Given the description of an element on the screen output the (x, y) to click on. 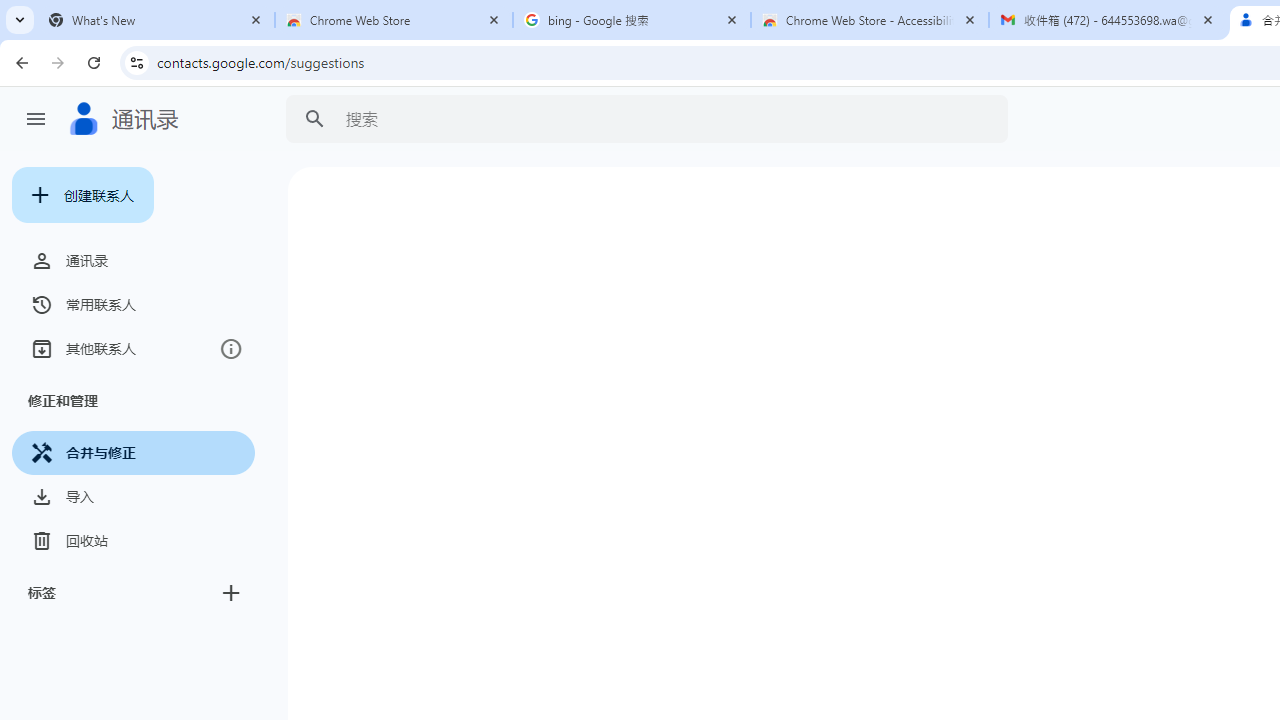
What's New (156, 20)
